Given the description of an element on the screen output the (x, y) to click on. 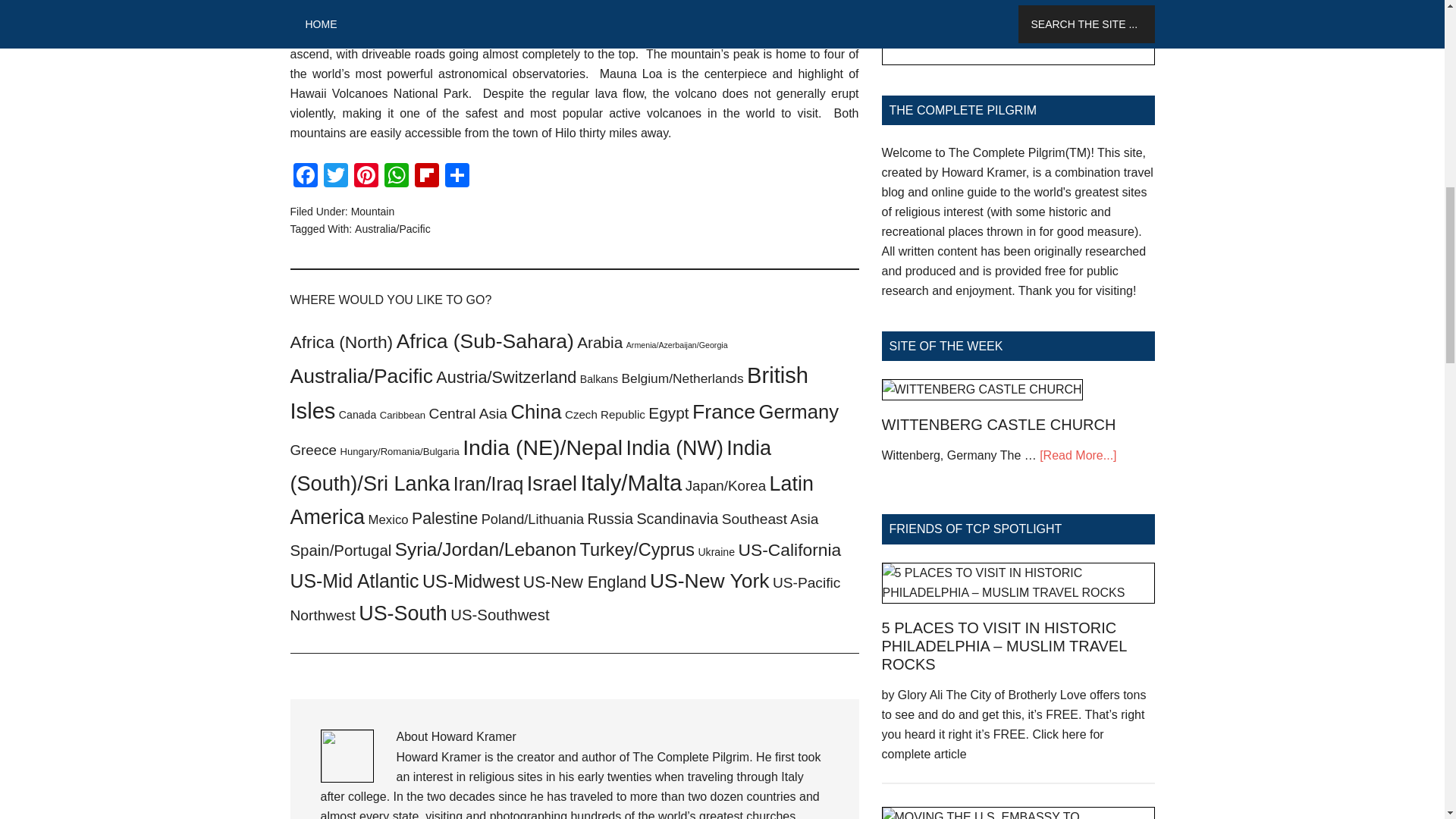
Twitter (335, 176)
Arabia (599, 342)
Pinterest (365, 176)
Mountain (372, 211)
Facebook (304, 176)
British Isles (548, 393)
Twitter (335, 176)
WhatsApp (395, 176)
Central Asia (467, 413)
Canada (357, 414)
